Given the description of an element on the screen output the (x, y) to click on. 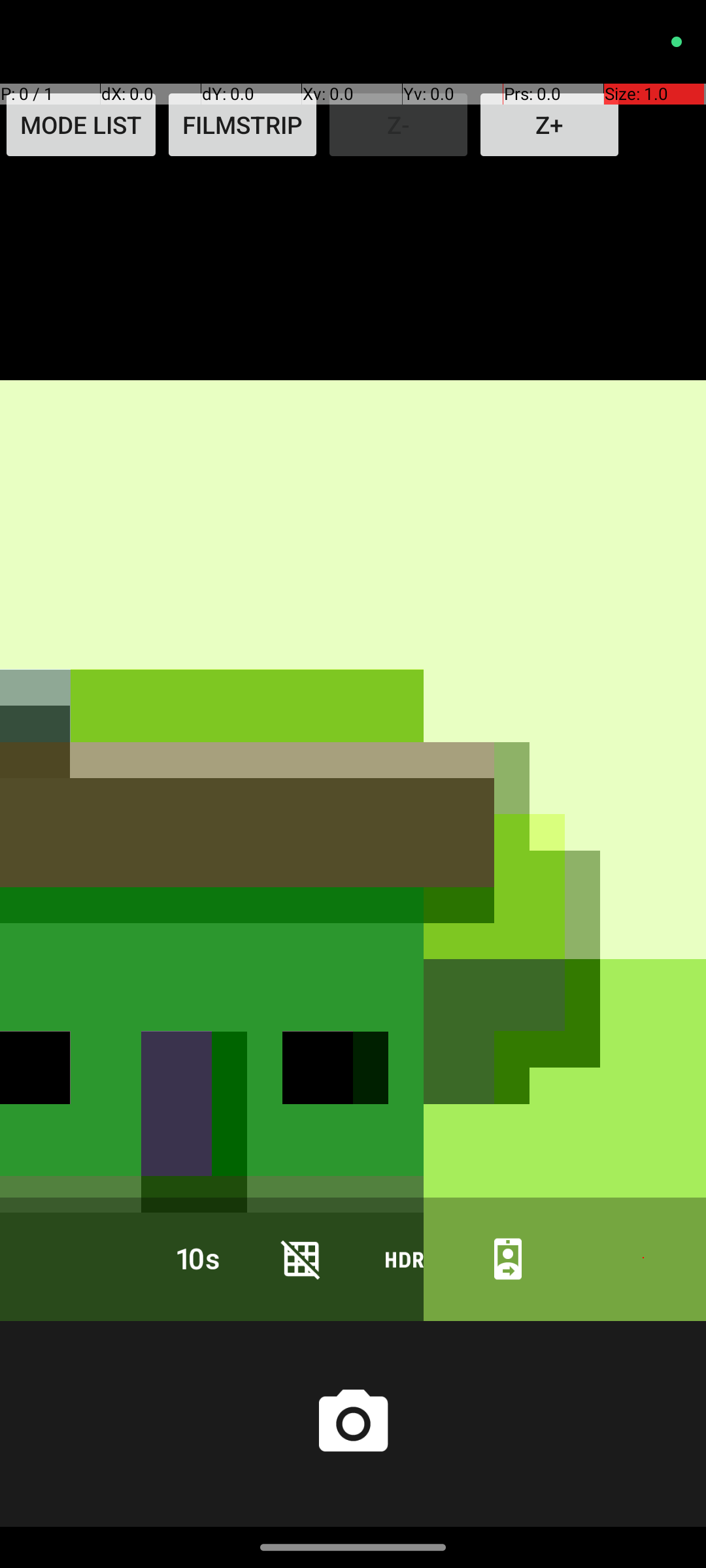
Countdown timer duration is set to 10 seconds Element type: android.widget.ImageButton (197, 1258)
